Given the description of an element on the screen output the (x, y) to click on. 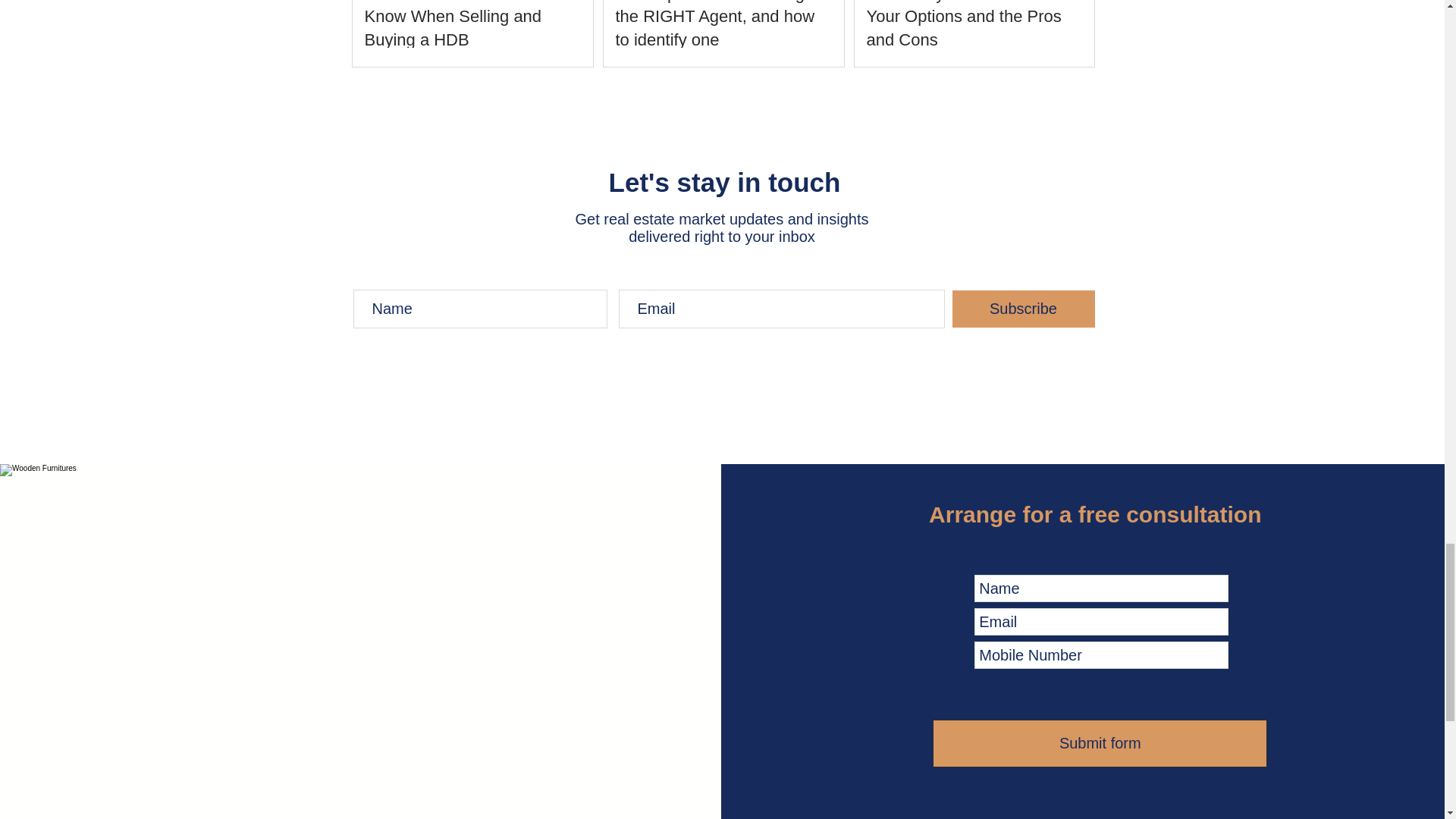
Life after your HDB BTO : Your Options and the Pros and Cons (973, 25)
Subscribe (1022, 308)
Submit form (1099, 742)
